Given the description of an element on the screen output the (x, y) to click on. 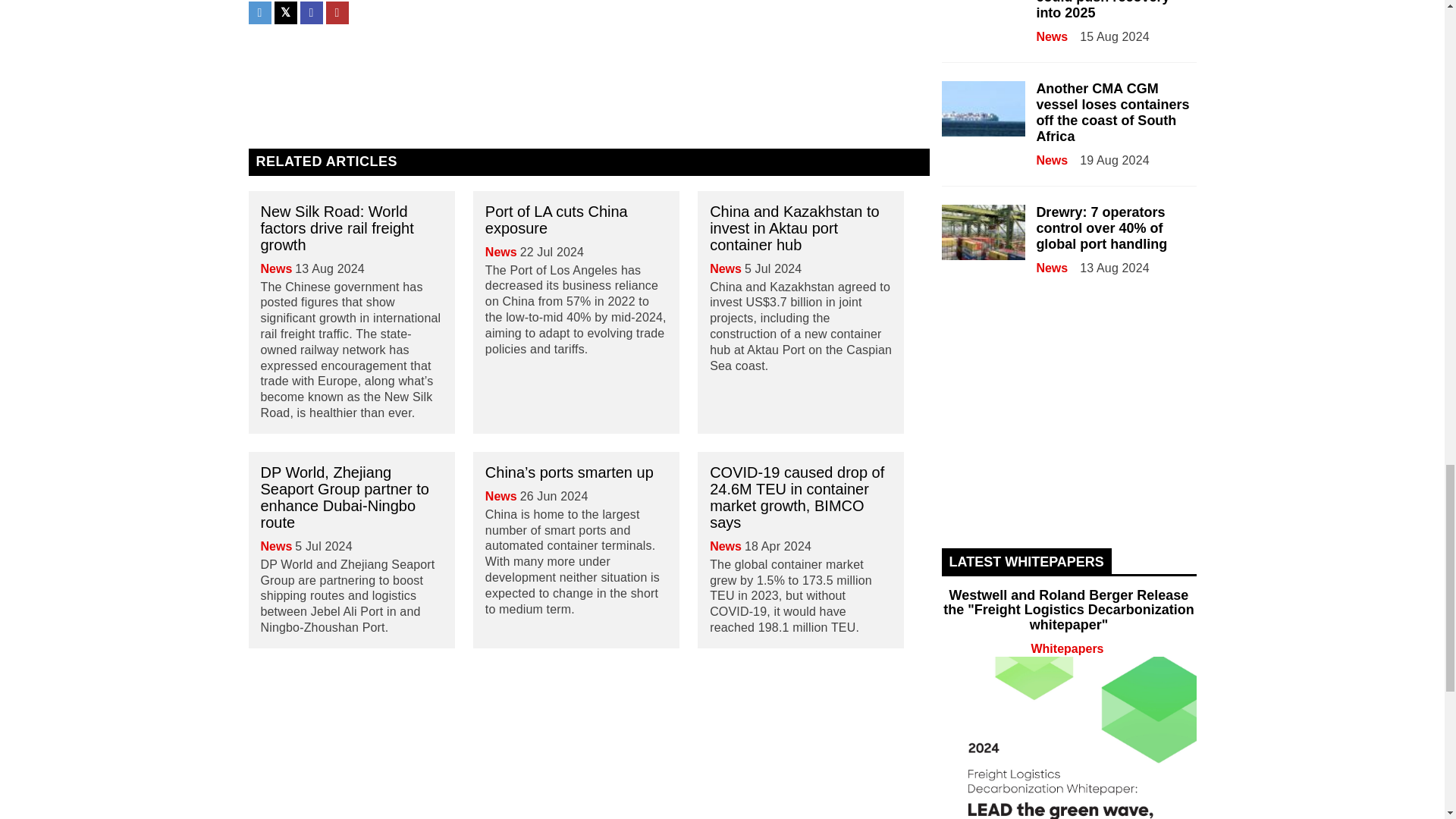
3rd party ad content (588, 70)
3rd party ad content (1069, 423)
3rd party ad content (588, 718)
